Given the description of an element on the screen output the (x, y) to click on. 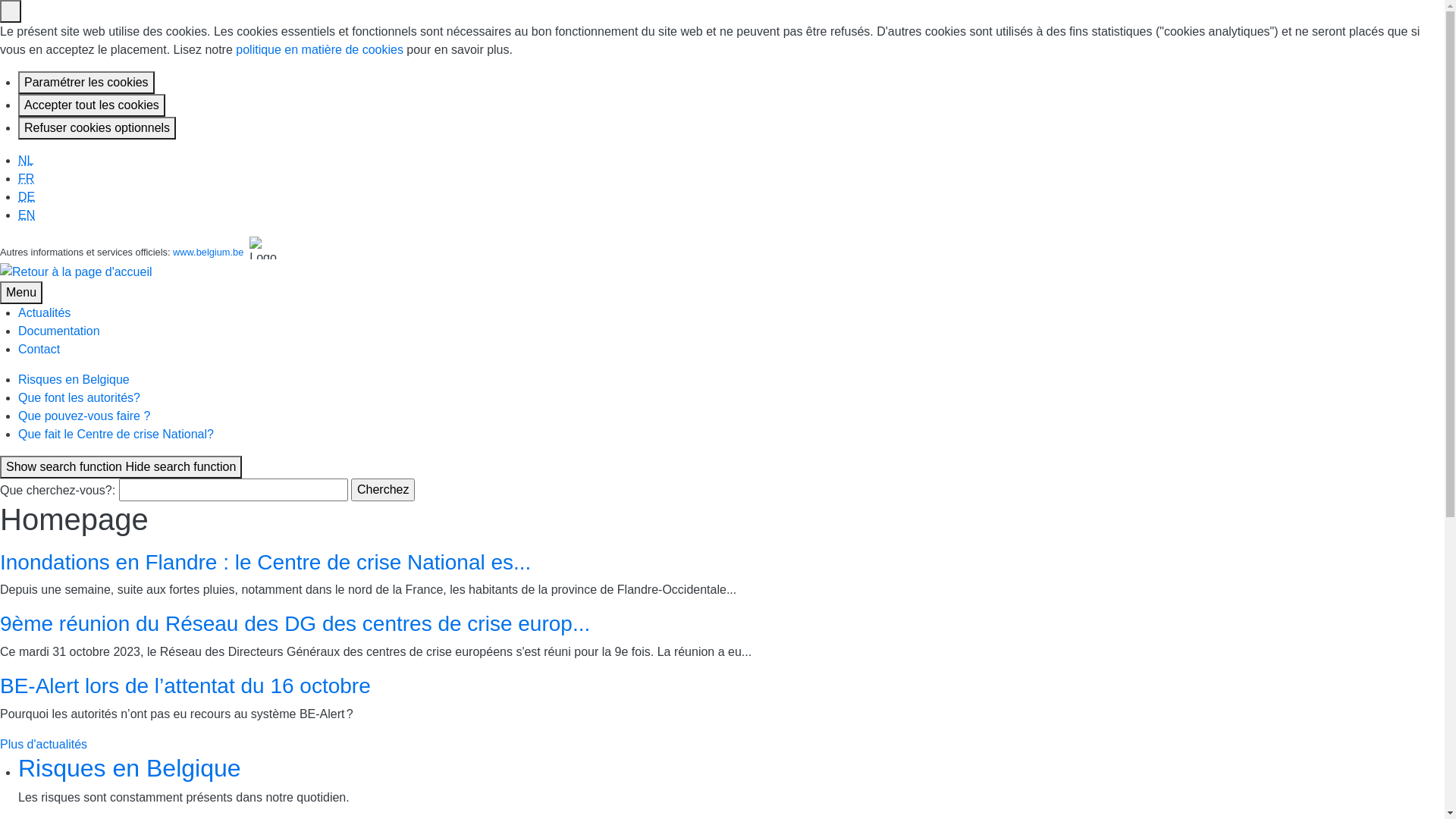
NL Element type: text (25, 159)
EN Element type: text (26, 214)
Risques en Belgique Element type: text (129, 767)
Que pouvez-vous faire ? Element type: text (84, 415)
Refuser cookies optionnels Element type: text (96, 127)
Fermer Element type: text (10, 11)
Risques en Belgique Element type: text (73, 379)
www.belgium.be Element type: text (207, 251)
Accepter tout les cookies Element type: text (91, 105)
Documentation Element type: text (59, 330)
Cherchez Element type: text (382, 489)
Que fait le Centre de crise National? Element type: text (115, 433)
Contact Element type: text (38, 348)
DE Element type: text (26, 196)
Aller au contenu principal Element type: text (0, 151)
Show search function Hide search function Element type: text (120, 466)
Inondations en Flandre : le Centre de crise National es... Element type: text (265, 562)
Menu Element type: text (21, 292)
FR Element type: text (26, 178)
